Given the description of an element on the screen output the (x, y) to click on. 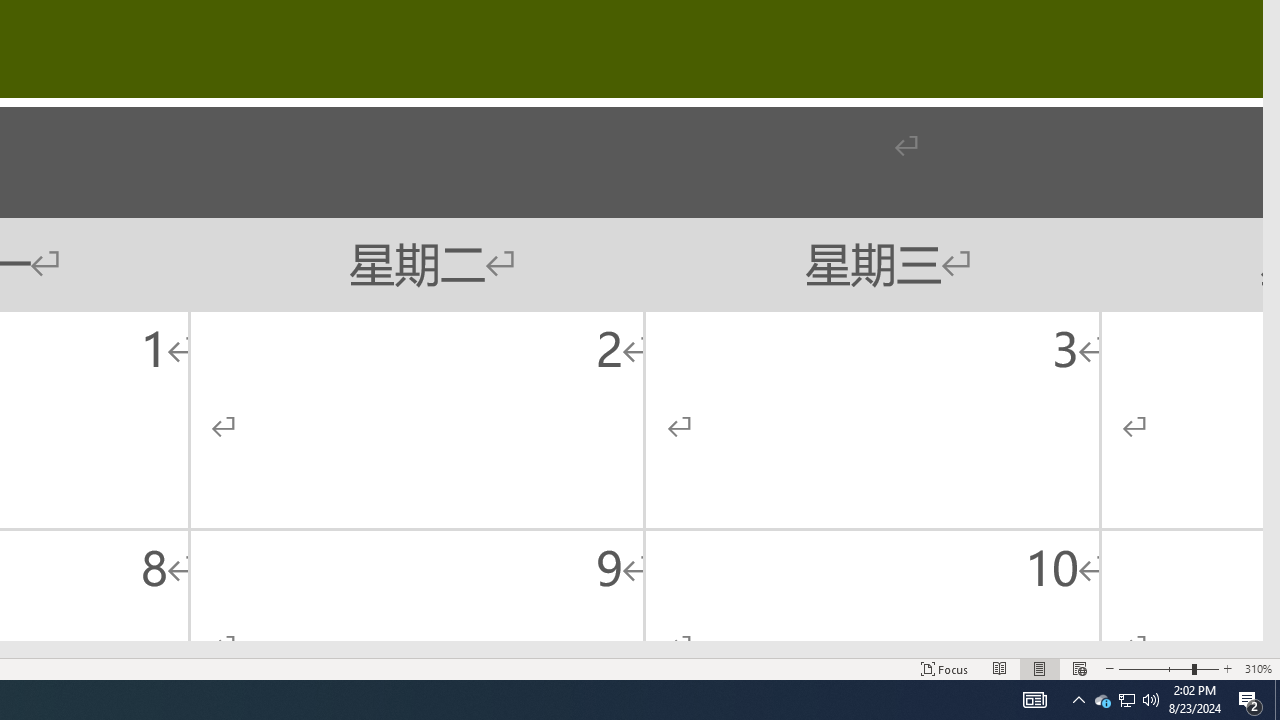
Zoom Out (1154, 668)
Focus  (944, 668)
Web Layout (1079, 668)
Print Layout (1039, 668)
Zoom (1168, 668)
Zoom In (1227, 668)
Read Mode (1000, 668)
